Given the description of an element on the screen output the (x, y) to click on. 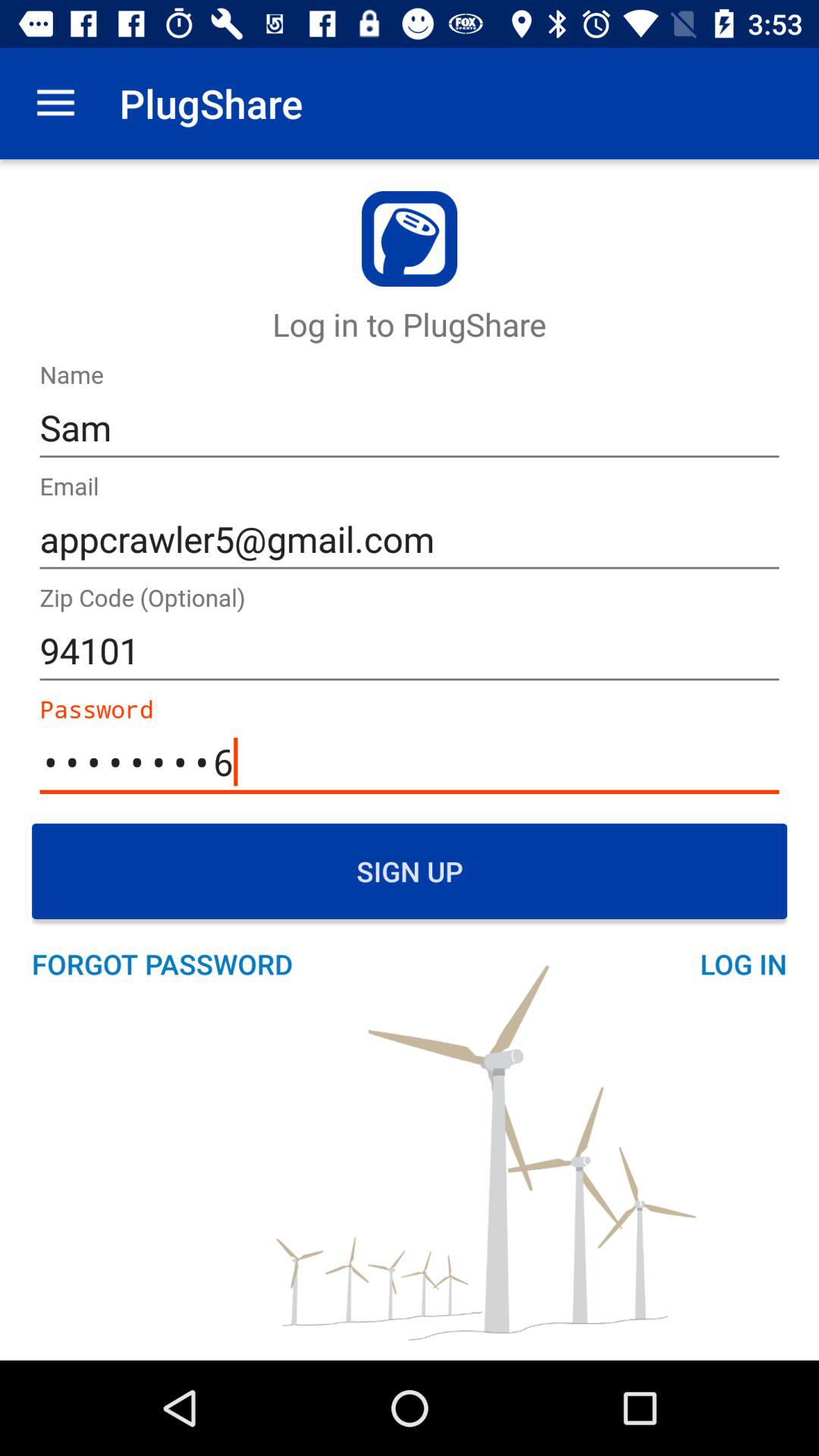
tap the icon to the left of the plugshare item (55, 103)
